Given the description of an element on the screen output the (x, y) to click on. 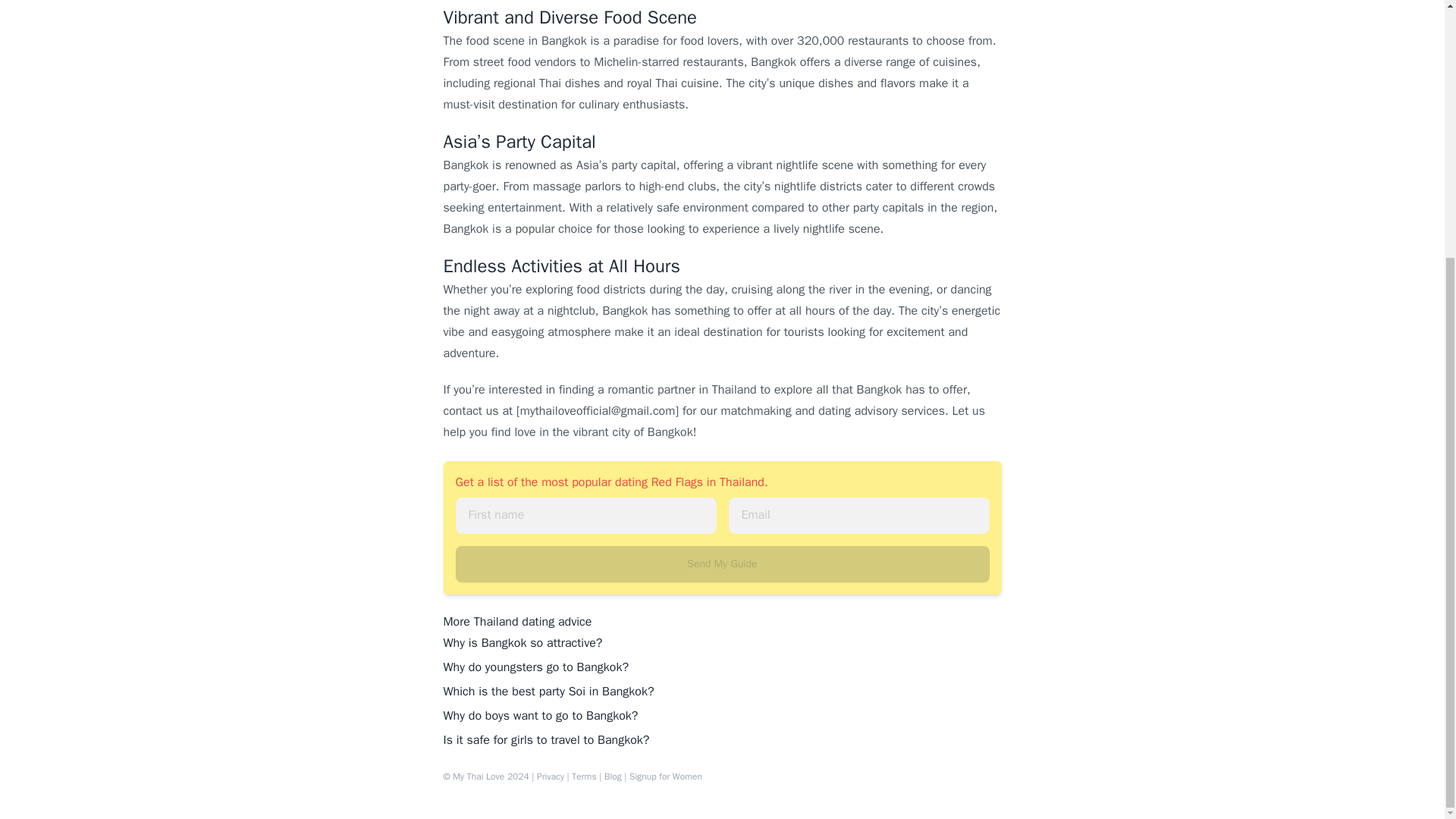
Which is the best party Soi in Bangkok? (547, 691)
Why do youngsters go to Bangkok? (535, 667)
Why do boys want to go to Bangkok? (539, 715)
Signup for Women (664, 776)
Is it safe for girls to travel to Bangkok? (545, 739)
Blog (612, 776)
Privacy (550, 776)
My Thai Love (477, 776)
Send My Guide (718, 564)
Terms (583, 776)
